Given the description of an element on the screen output the (x, y) to click on. 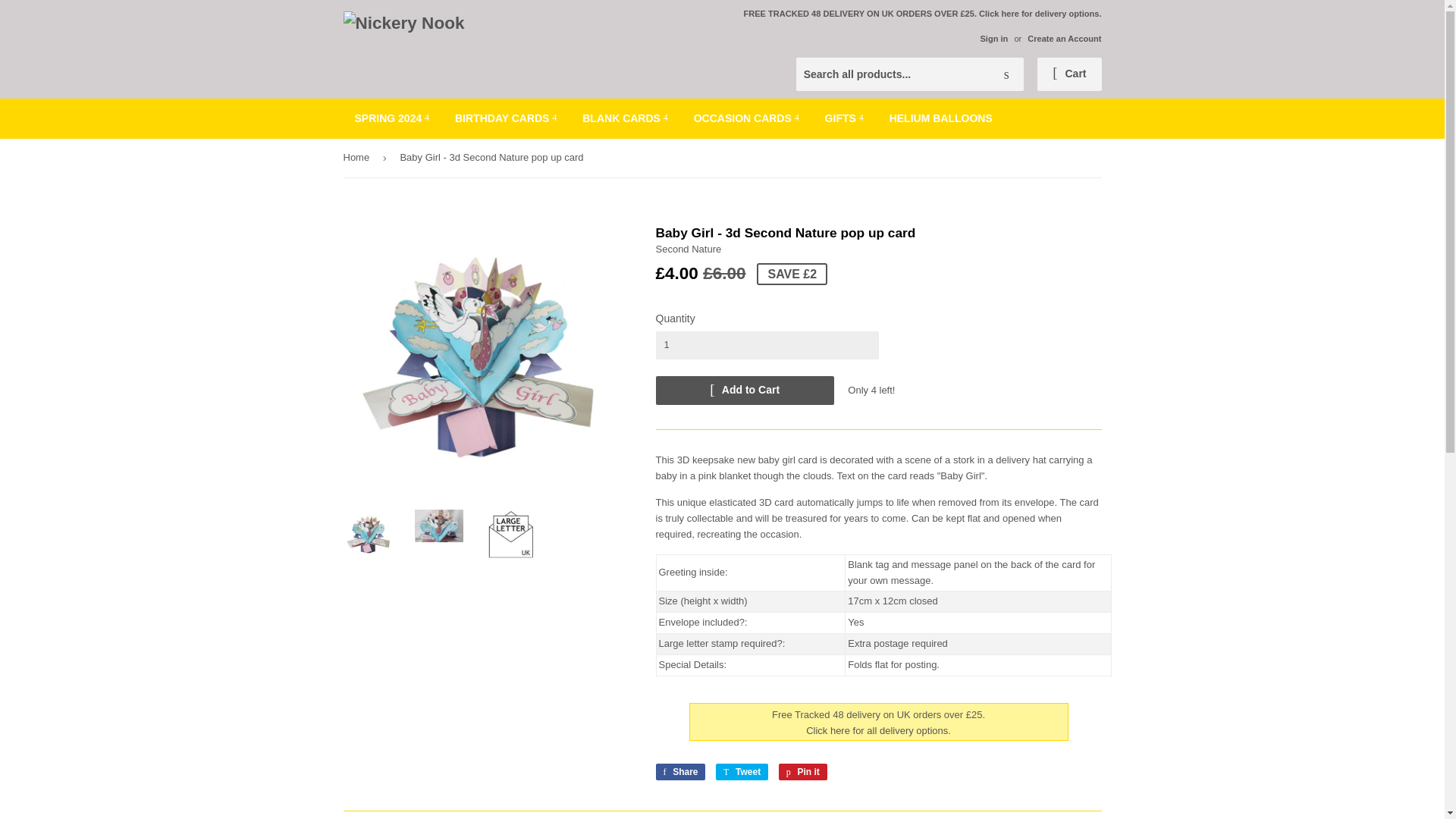
Search (1006, 74)
Cart (1068, 73)
Tweet on Twitter (742, 771)
Sign in (993, 38)
Pin on Pinterest (802, 771)
Share on Facebook (679, 771)
Create an Account (1063, 38)
1 (766, 344)
